Given the description of an element on the screen output the (x, y) to click on. 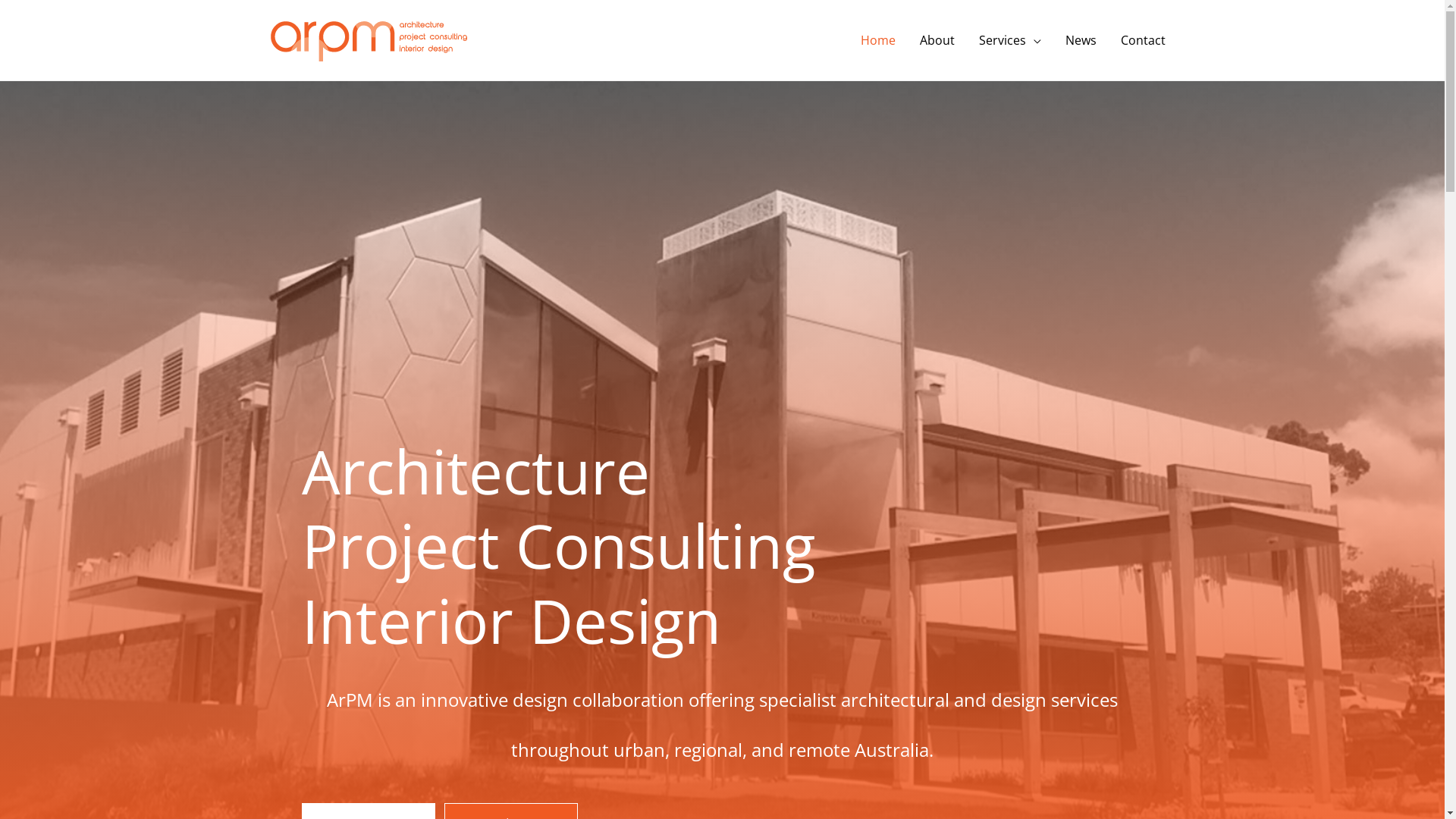
News Element type: text (1079, 39)
About Element type: text (936, 39)
Contact Element type: text (1142, 39)
Home Element type: text (876, 39)
Services Element type: text (1009, 39)
